Given the description of an element on the screen output the (x, y) to click on. 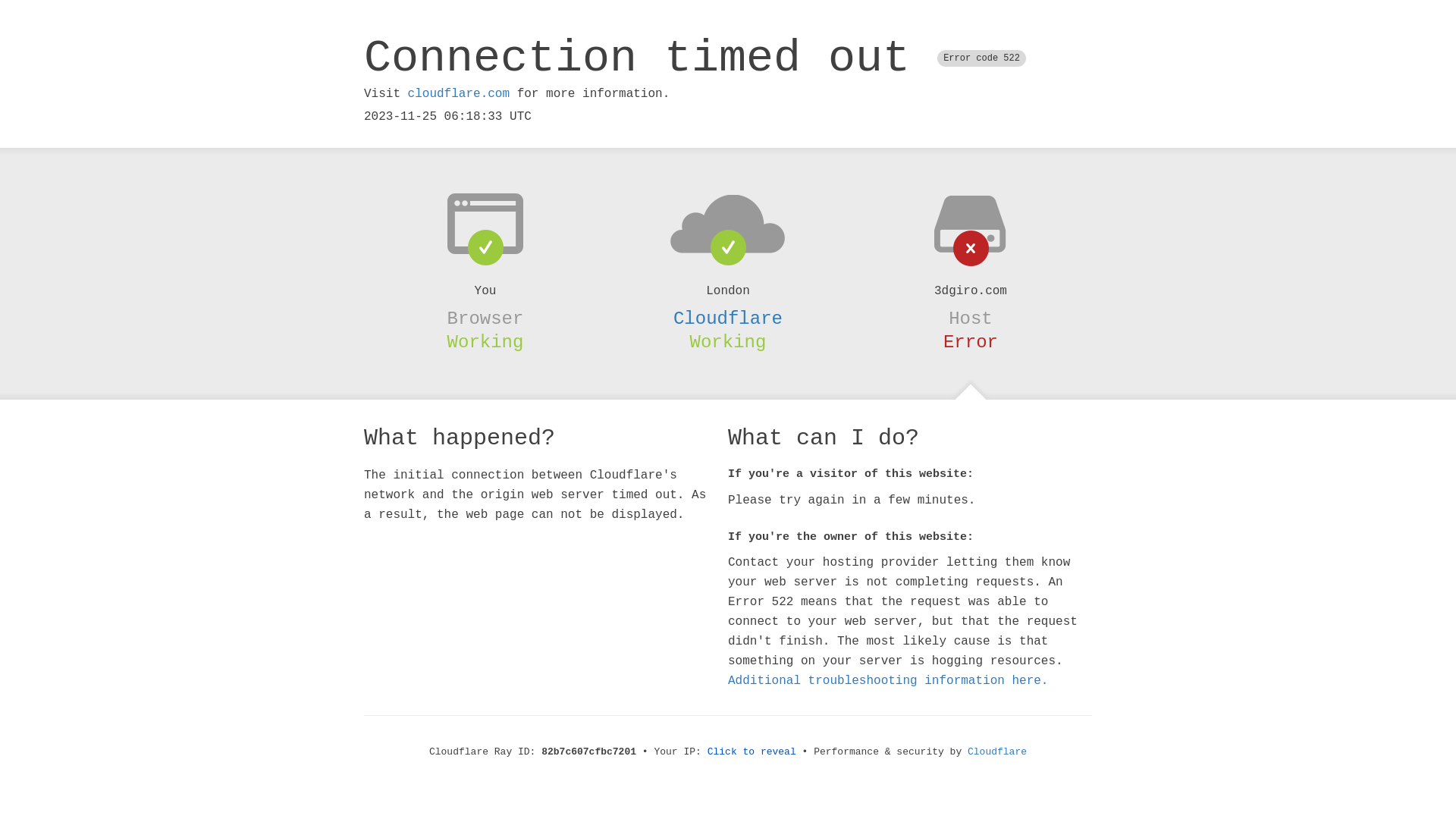
Additional troubleshooting information here. Element type: text (888, 680)
cloudflare.com Element type: text (458, 93)
Click to reveal Element type: text (751, 751)
Cloudflare Element type: text (727, 318)
Cloudflare Element type: text (996, 751)
